Given the description of an element on the screen output the (x, y) to click on. 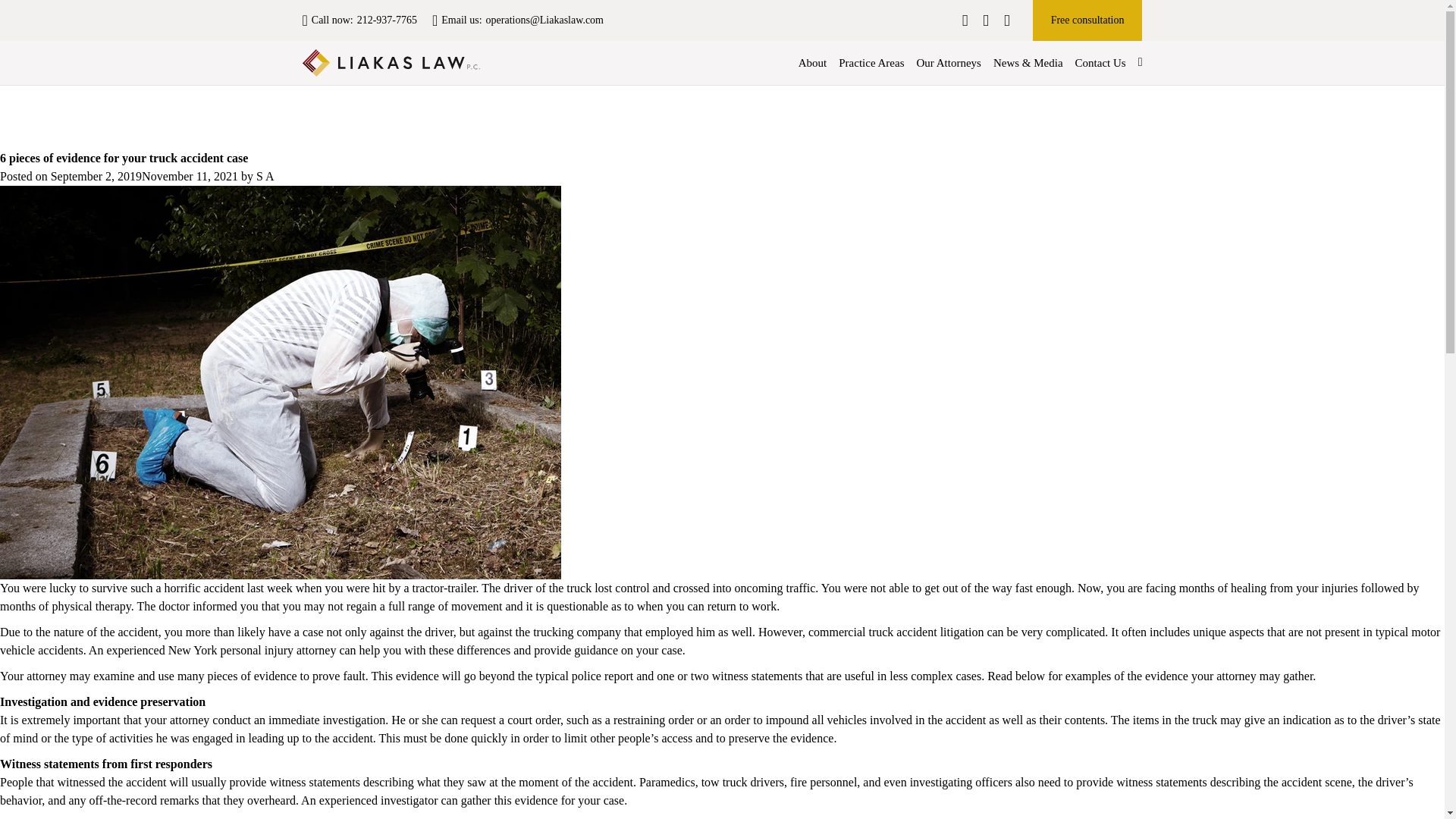
Practice Areas (871, 62)
September 2, 2019November 11, 2021 (144, 175)
Free consultation (1087, 20)
Contact Us (1100, 62)
6 pieces of evidence for your truck accident case (123, 157)
S A (265, 175)
212-937-7765 (386, 20)
About (812, 62)
Our Attorneys (947, 62)
